Given the description of an element on the screen output the (x, y) to click on. 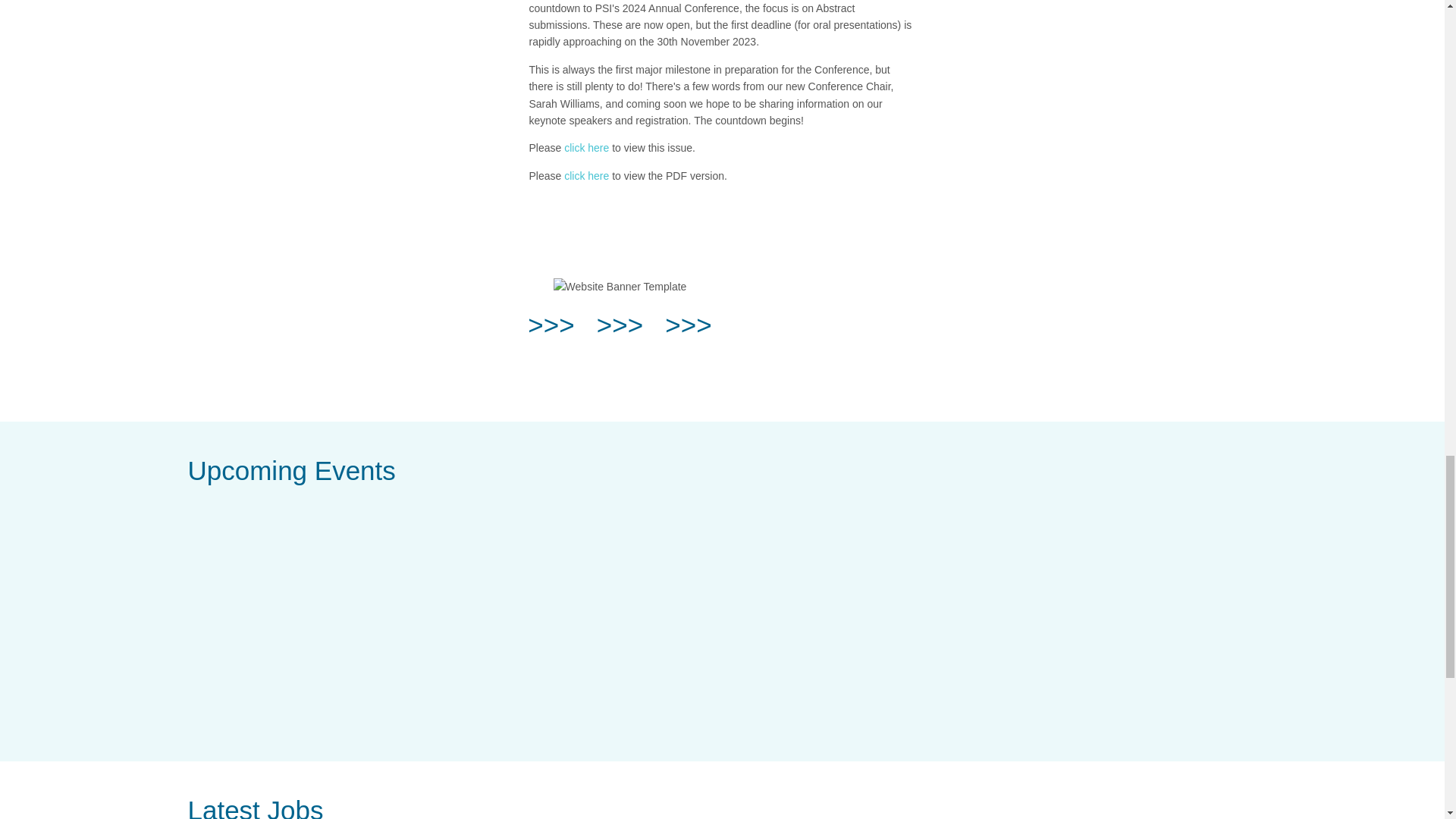
click here (586, 175)
Website Banner Template (620, 286)
